Given the description of an element on the screen output the (x, y) to click on. 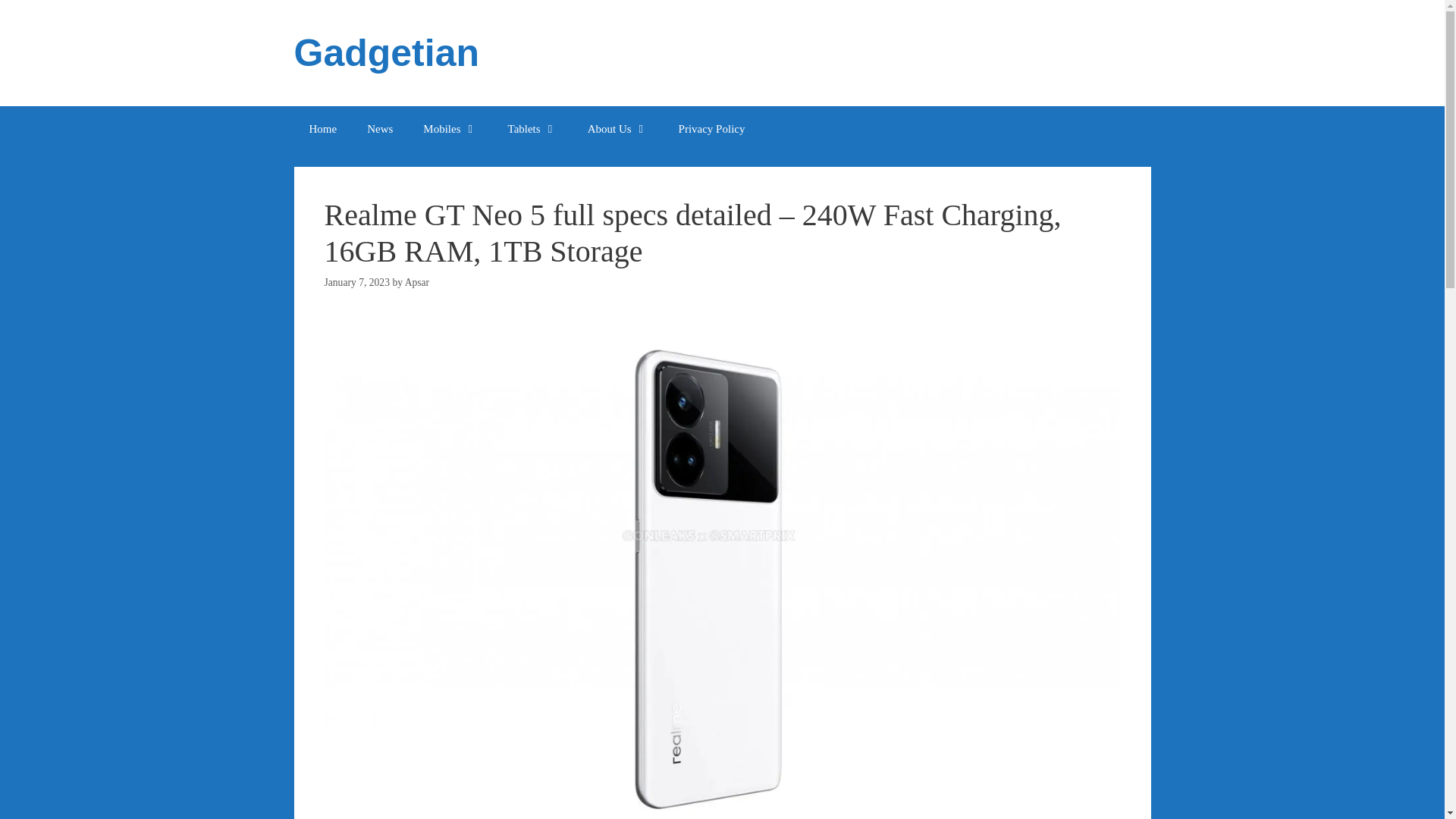
News (379, 128)
About Us (617, 128)
View all posts by Apsar (416, 282)
Home (323, 128)
Privacy Policy (711, 128)
Mobiles (449, 128)
Gadgetian (386, 52)
Tablets (532, 128)
Apsar (416, 282)
